Given the description of an element on the screen output the (x, y) to click on. 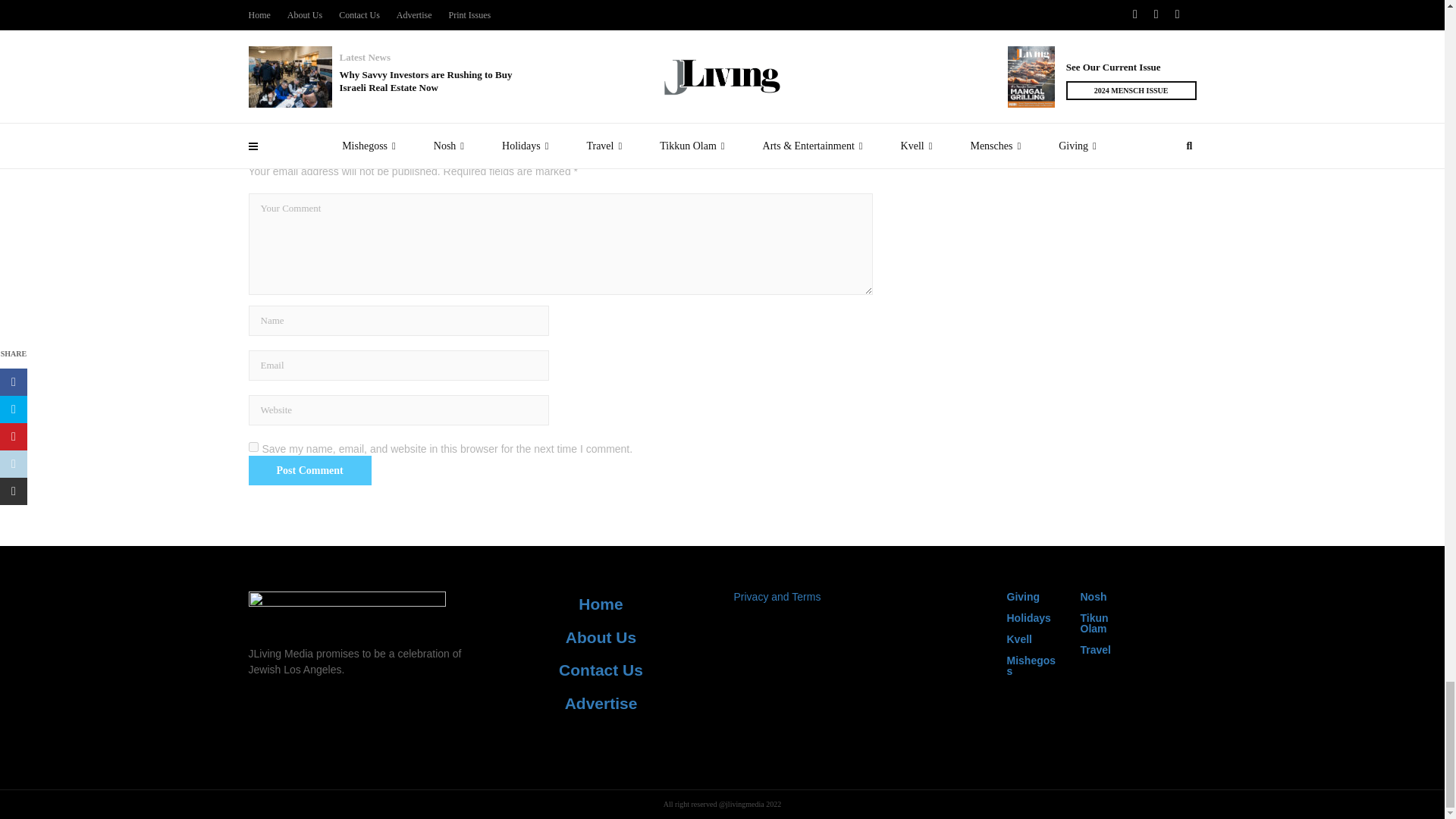
Post Comment (309, 470)
yes (253, 447)
